Given the description of an element on the screen output the (x, y) to click on. 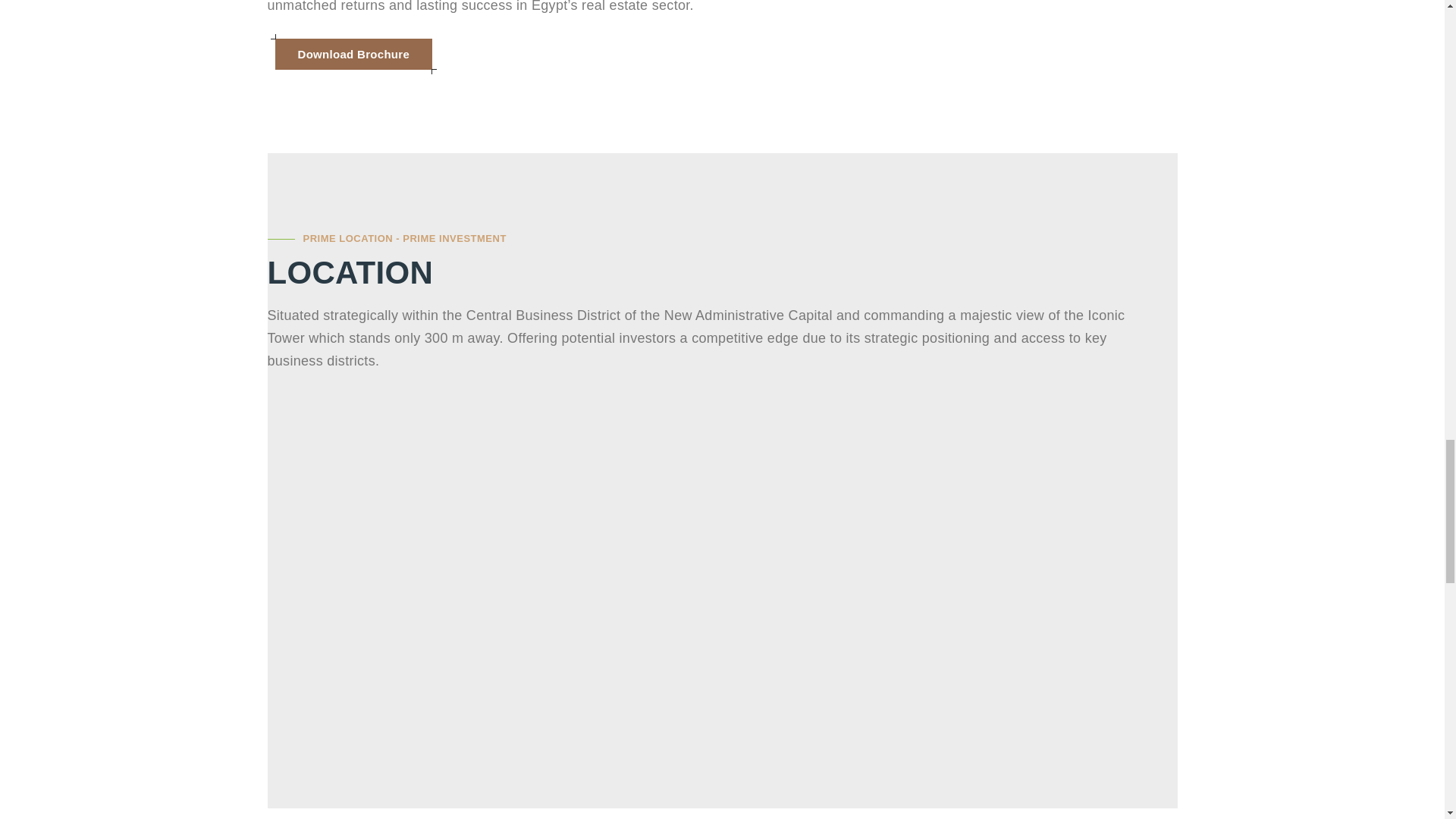
Download Brochure (353, 53)
